Given the description of an element on the screen output the (x, y) to click on. 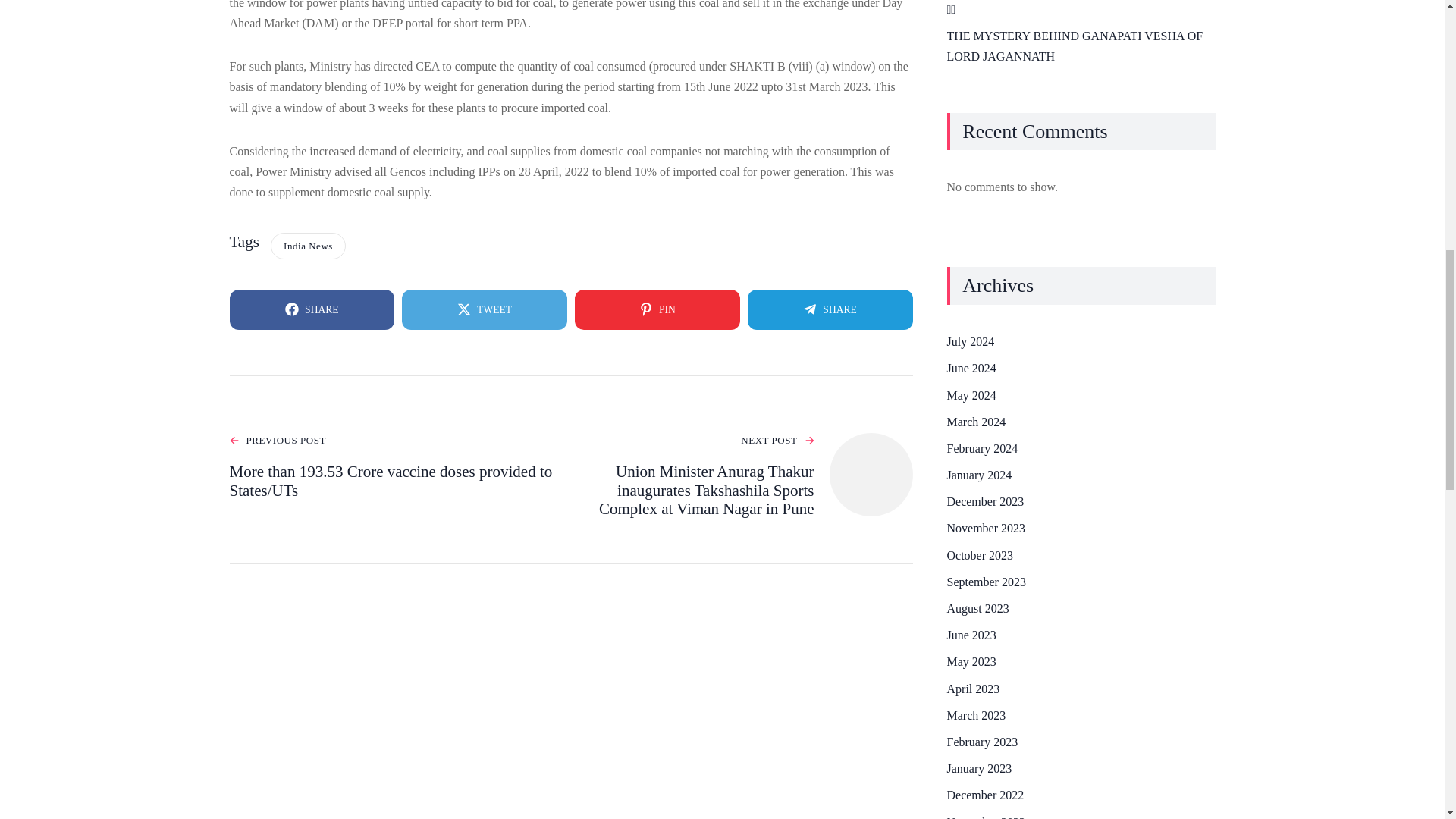
SHARE (830, 309)
India News (308, 245)
TWEET (484, 309)
PIN (657, 309)
SHARE (311, 309)
